Given the description of an element on the screen output the (x, y) to click on. 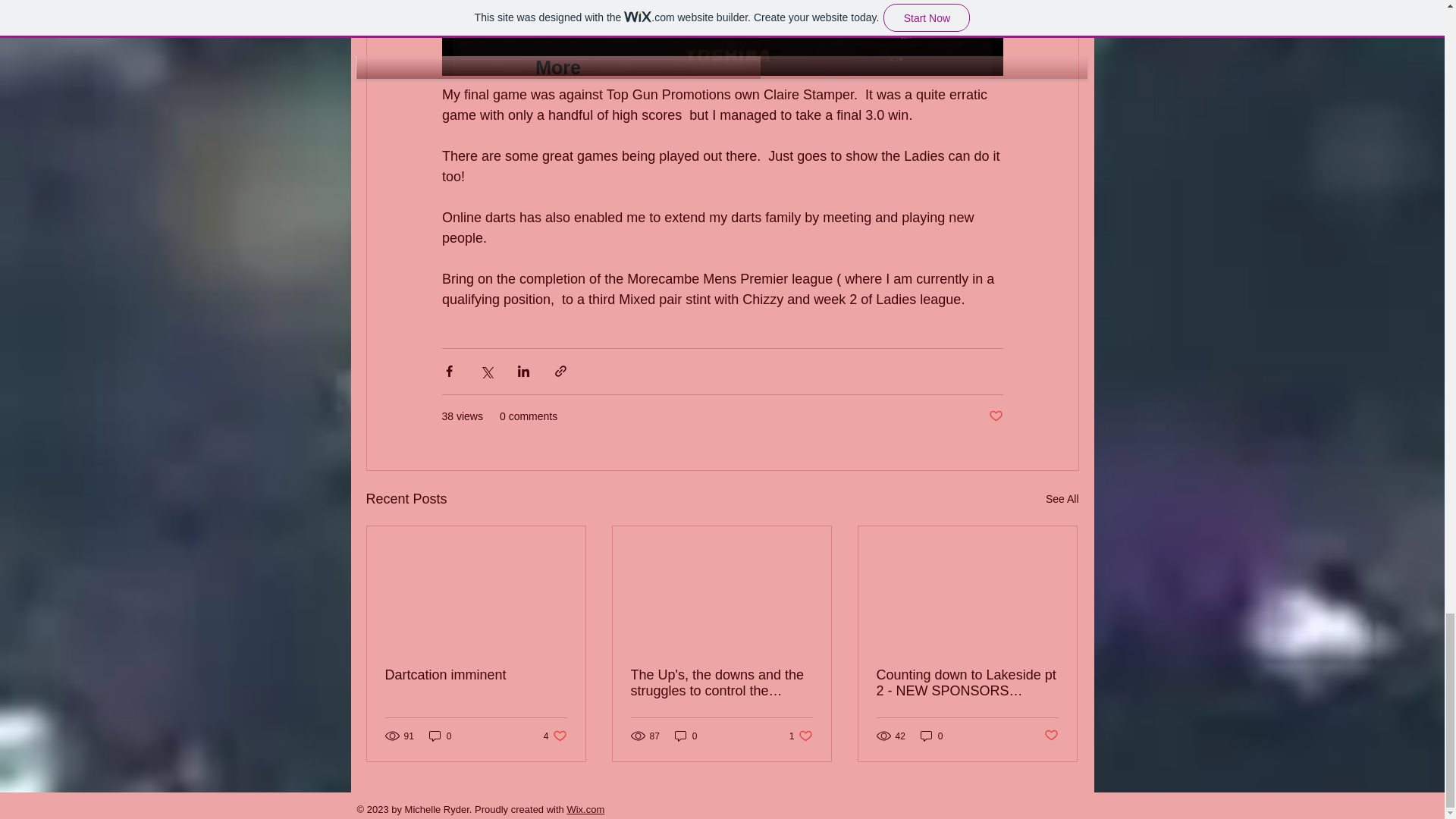
Counting down to Lakeside pt 2 - NEW SPONSORS ALERT! (967, 683)
0 (685, 735)
Wix.com (800, 735)
0 (585, 808)
0 (440, 735)
Post not marked as liked (931, 735)
See All (1050, 735)
Dartcation imminent (1061, 499)
